Given the description of an element on the screen output the (x, y) to click on. 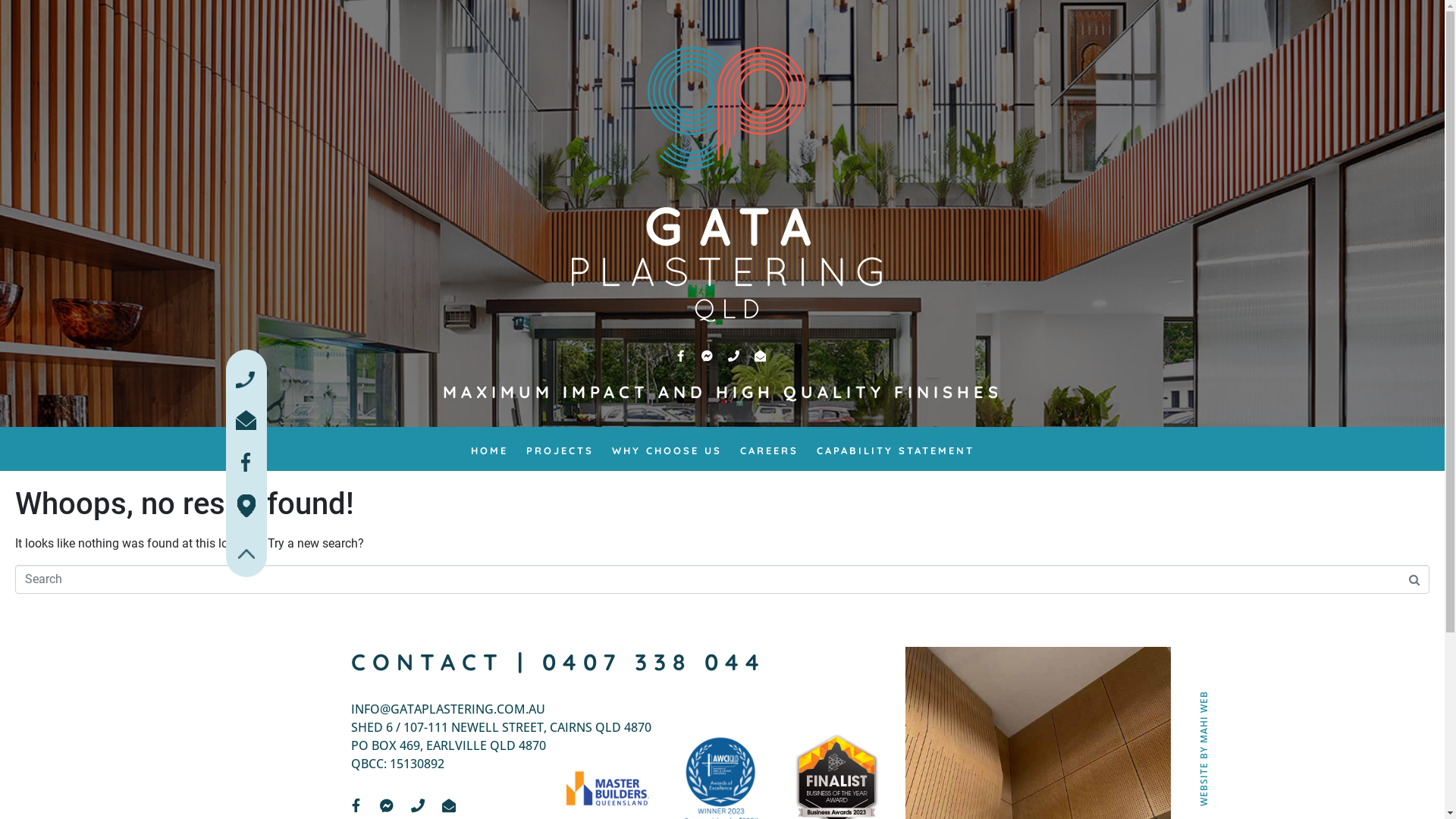
WEBSITE BY MAHI WEB Element type: text (1254, 696)
WHY CHOOSE US Element type: text (666, 452)
PROJECTS Element type: text (559, 452)
CAREERS Element type: text (769, 452)
HOME Element type: text (488, 452)
CAPABILITY STATEMENT Element type: text (894, 452)
INFO@GATAPLASTERING.COM.AU Element type: text (448, 708)
CONTACT | 0407 338 044 Element type: text (558, 661)
